Given the description of an element on the screen output the (x, y) to click on. 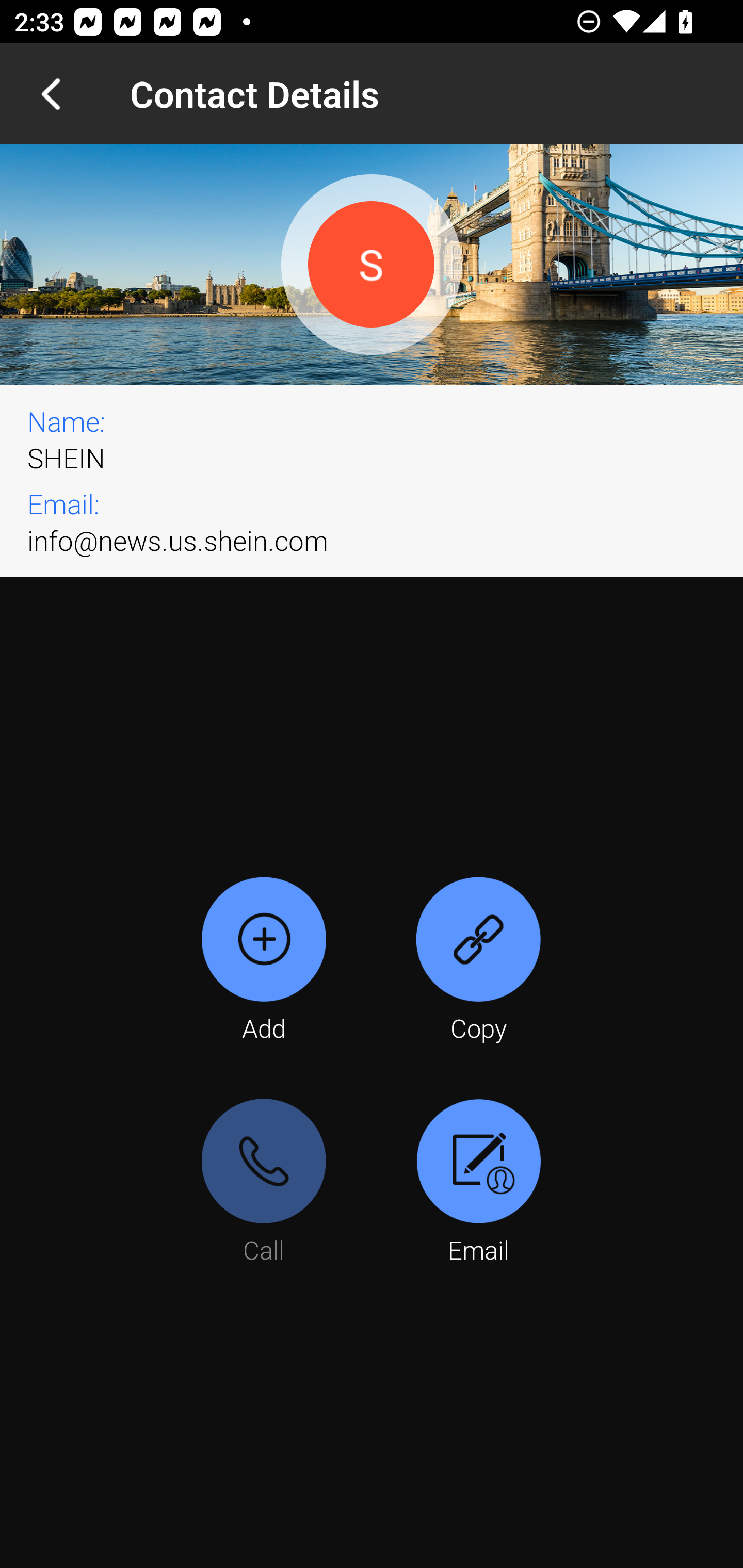
Navigate up (50, 93)
Add (264, 961)
Copy (478, 961)
Call (264, 1182)
Email (478, 1182)
